Given the description of an element on the screen output the (x, y) to click on. 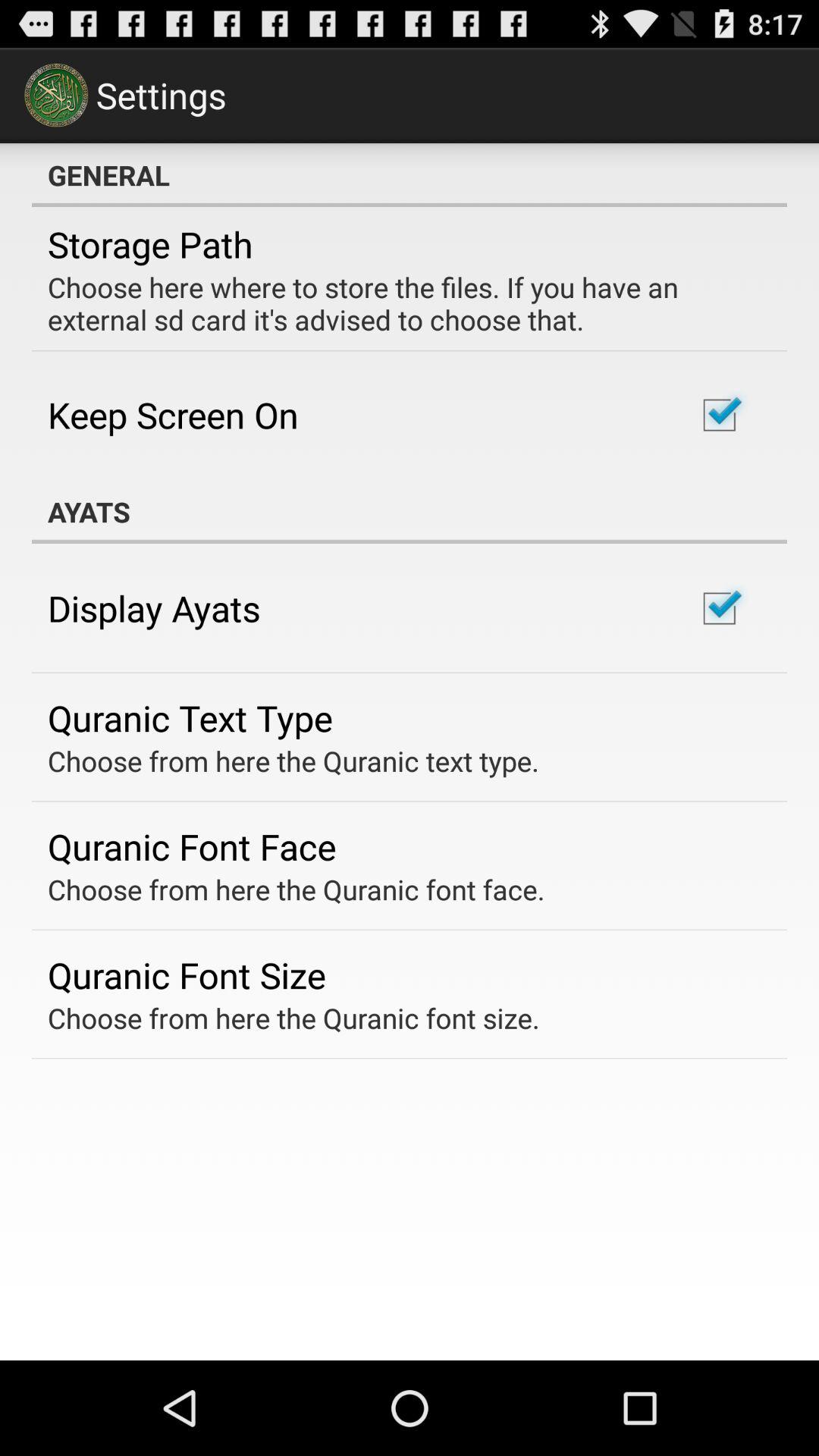
tap the item below ayats item (153, 608)
